Given the description of an element on the screen output the (x, y) to click on. 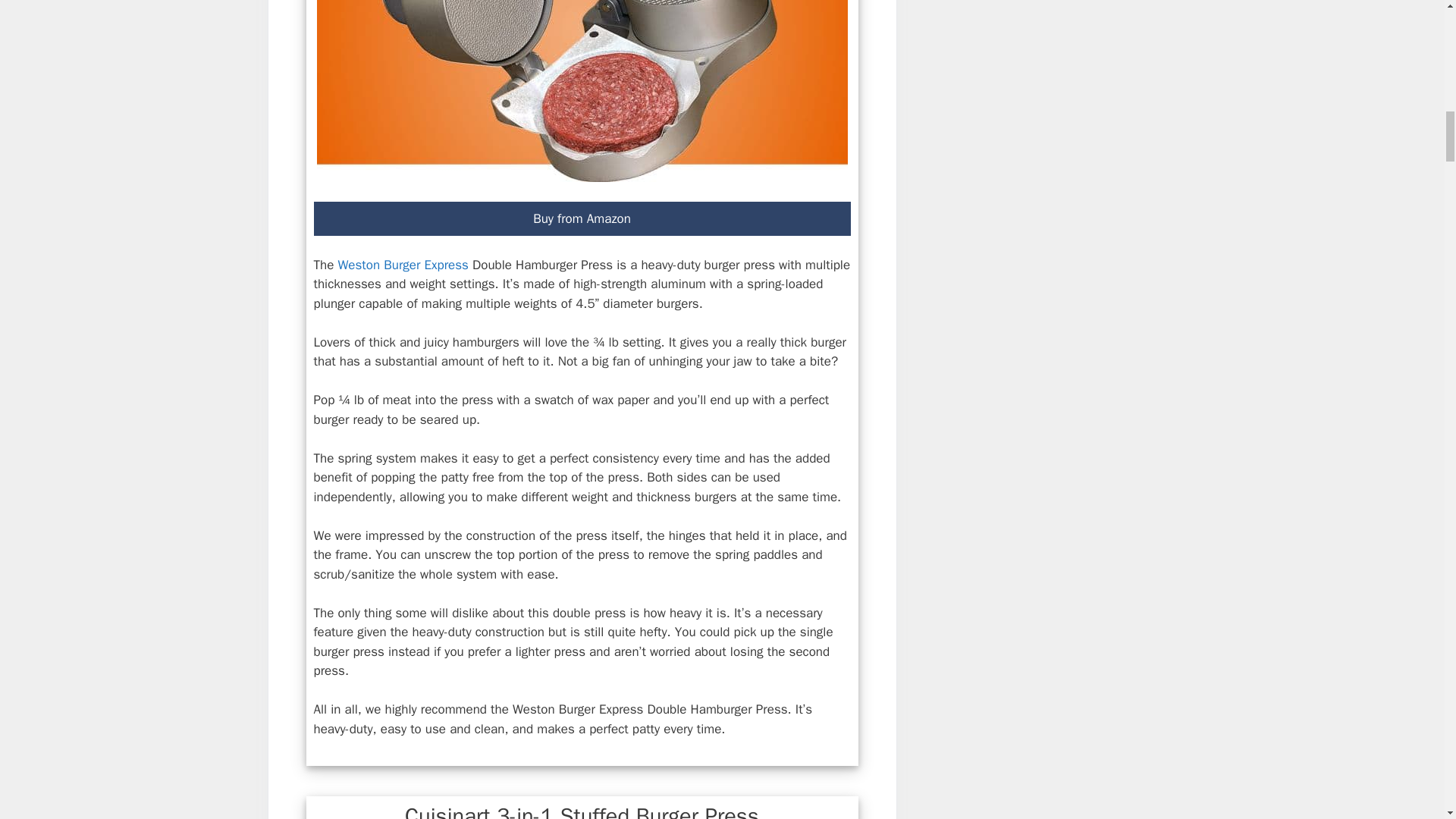
Weston Burger Express (402, 264)
Buy from Amazon (582, 218)
